Given the description of an element on the screen output the (x, y) to click on. 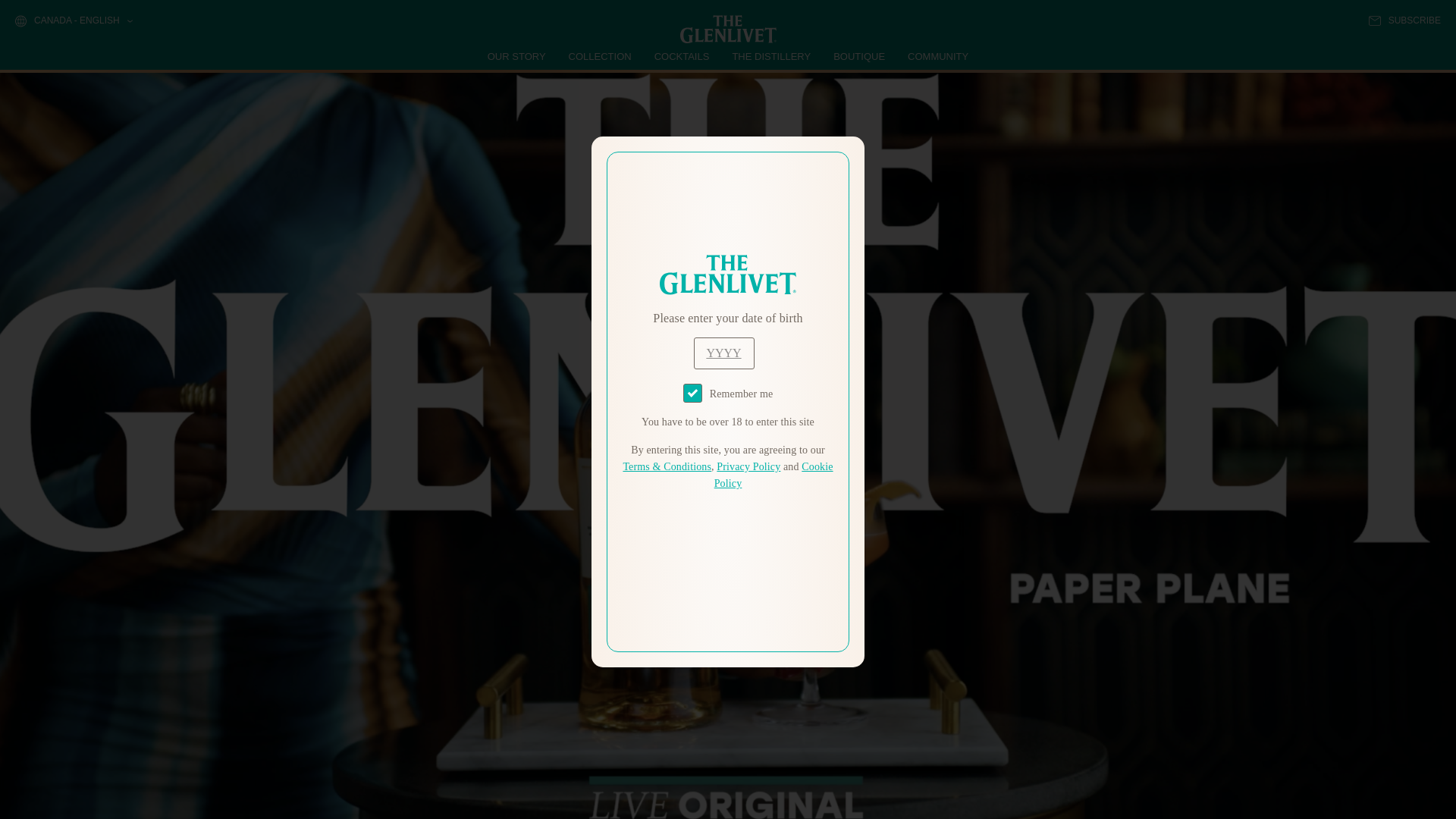
CANADA - ENGLISH (73, 21)
Cookie Policy (773, 474)
COMMUNITY (937, 56)
BOUTIQUE (858, 56)
OUR STORY (516, 56)
SUBSCRIBE (1404, 20)
year (723, 353)
THE DISTILLERY (771, 56)
Privacy Policy (748, 466)
COCKTAILS (681, 56)
